Given the description of an element on the screen output the (x, y) to click on. 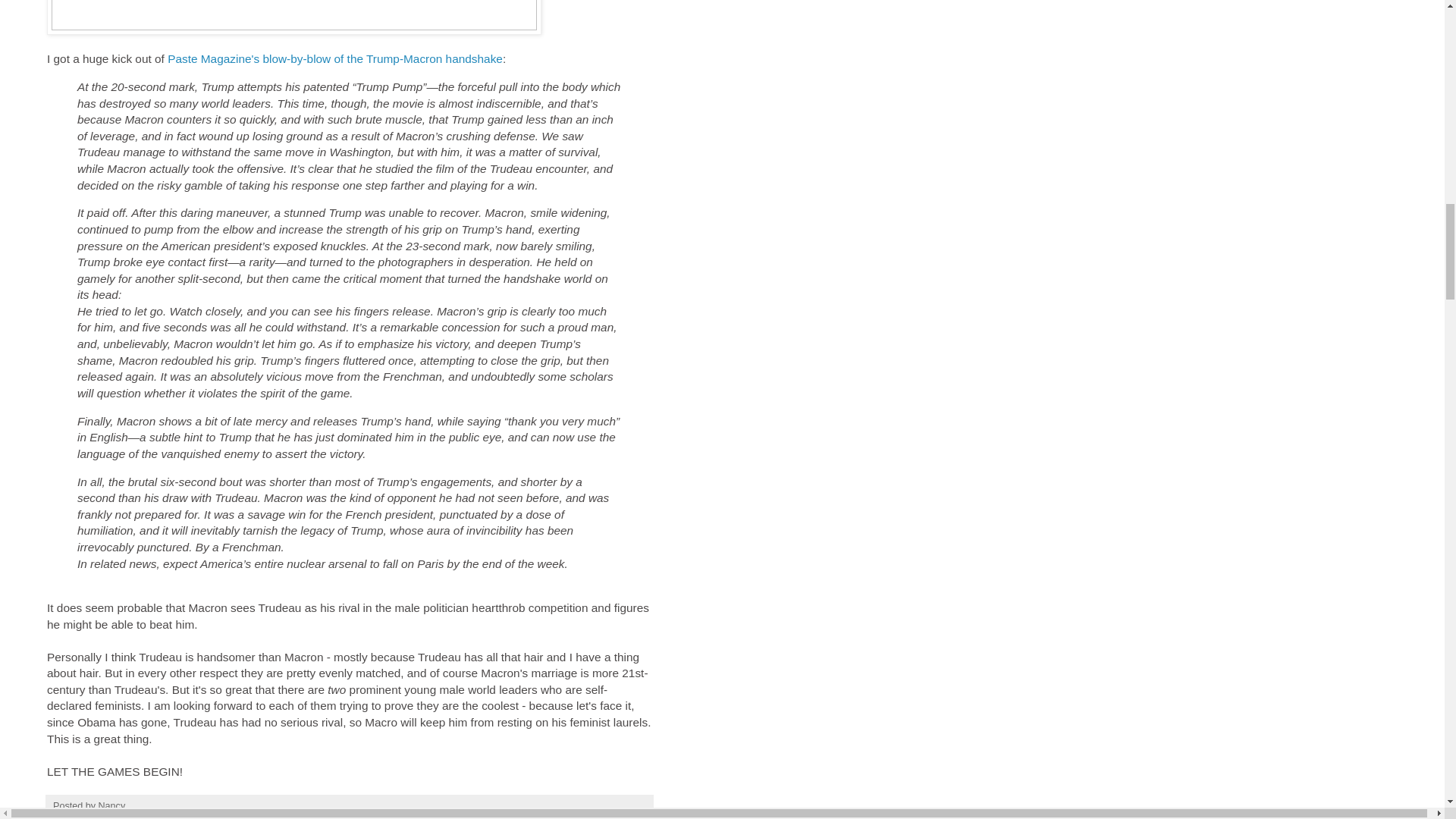
Paste Magazine's blow-by-blow of the Trump-Macron handshake (334, 58)
